Given the description of an element on the screen output the (x, y) to click on. 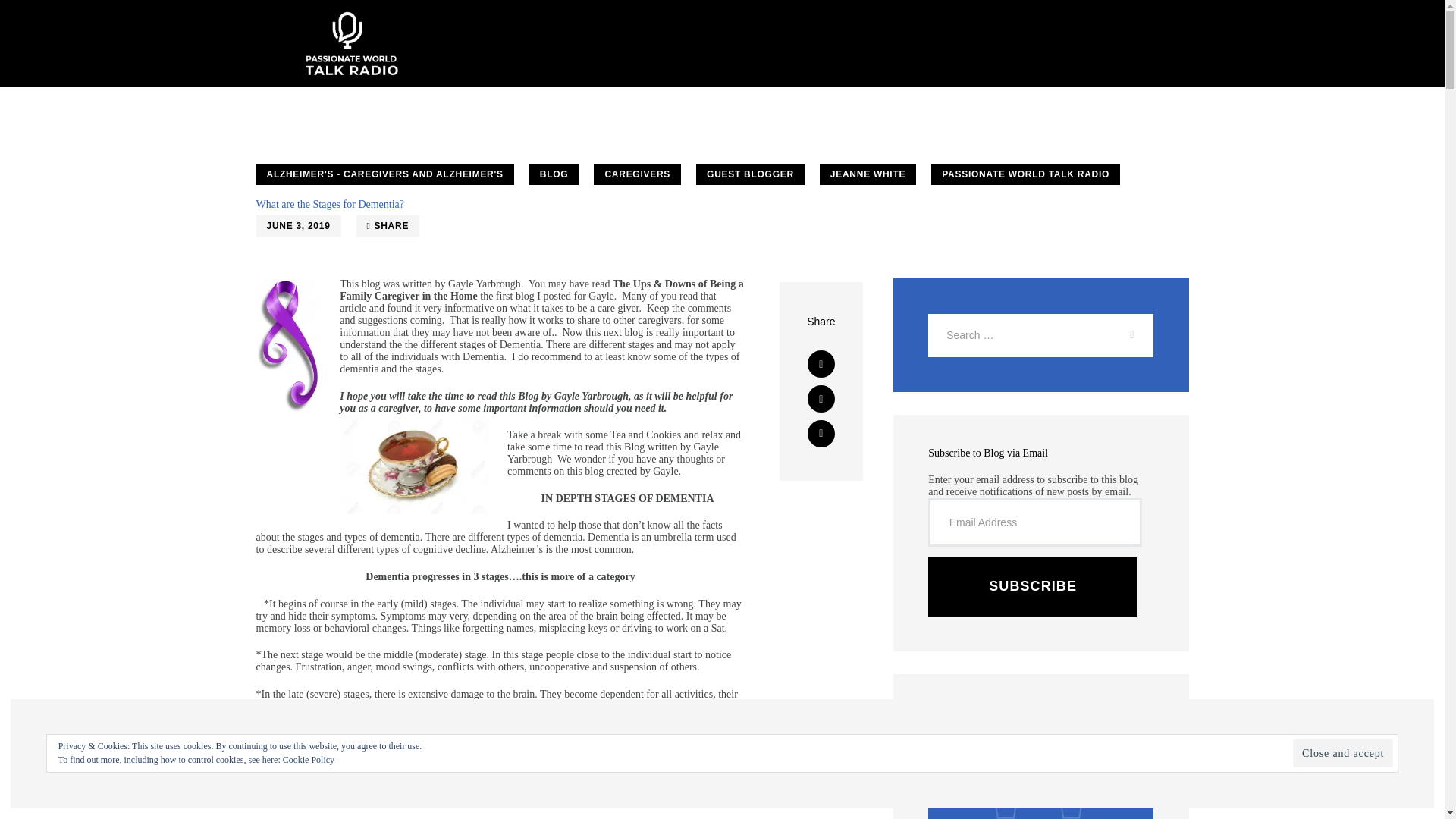
GUEST BLOGGER (750, 174)
JEANNE WHITE (867, 174)
Search (1126, 335)
BLOG (554, 174)
SHARE (388, 226)
ALZHEIMER'S - CAREGIVERS AND ALZHEIMER'S (384, 174)
Close and accept (1342, 753)
Search (1126, 335)
CAREGIVERS (637, 174)
PASSIONATE WORLD TALK RADIO (1025, 174)
